Given the description of an element on the screen output the (x, y) to click on. 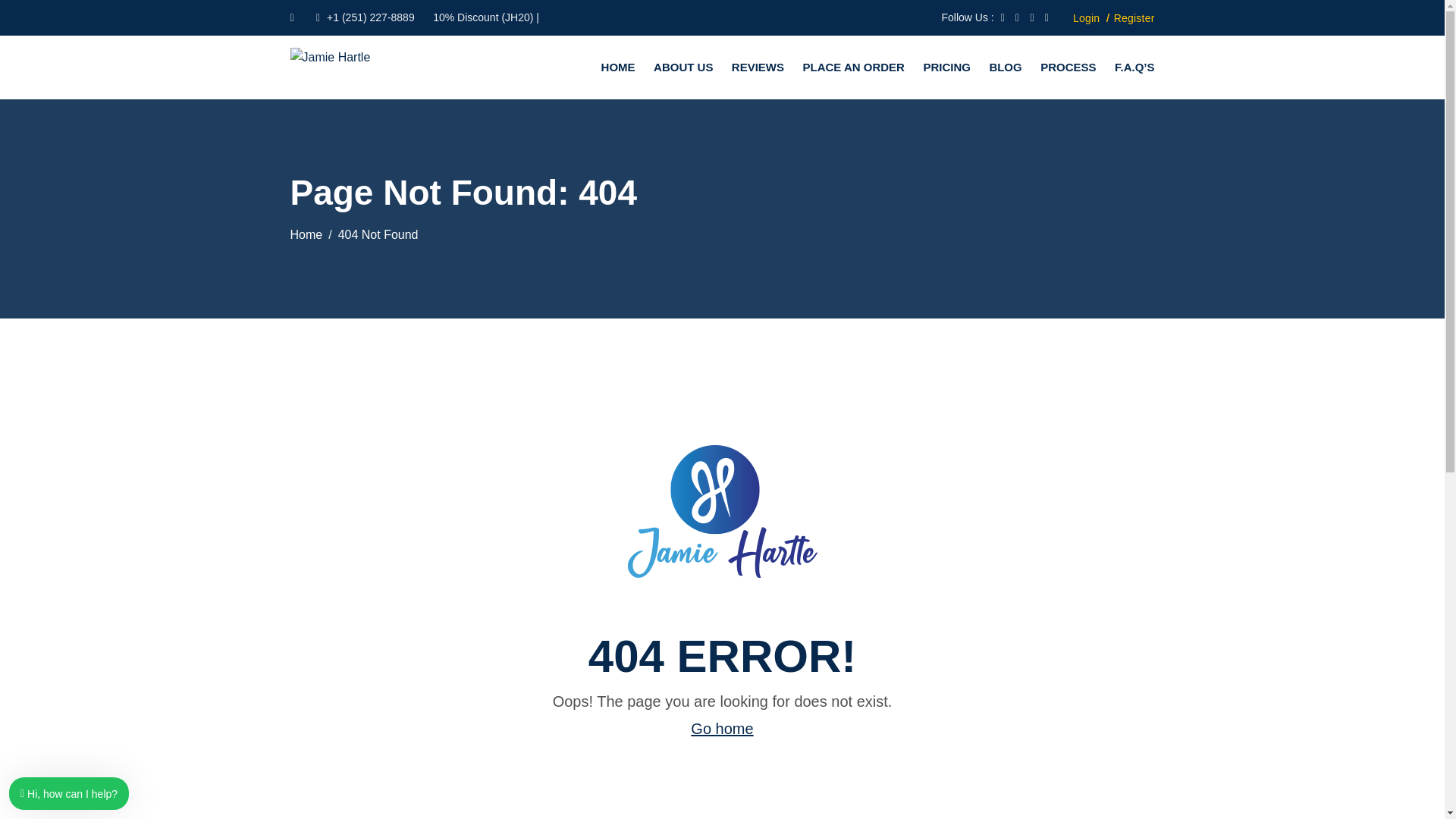
PROCESS (1067, 67)
PRICING (946, 67)
ABOUT US (683, 67)
Login (1086, 17)
Go home (721, 728)
Register (1133, 17)
Home (305, 234)
PLACE AN ORDER (852, 67)
REVIEWS (757, 67)
